Given the description of an element on the screen output the (x, y) to click on. 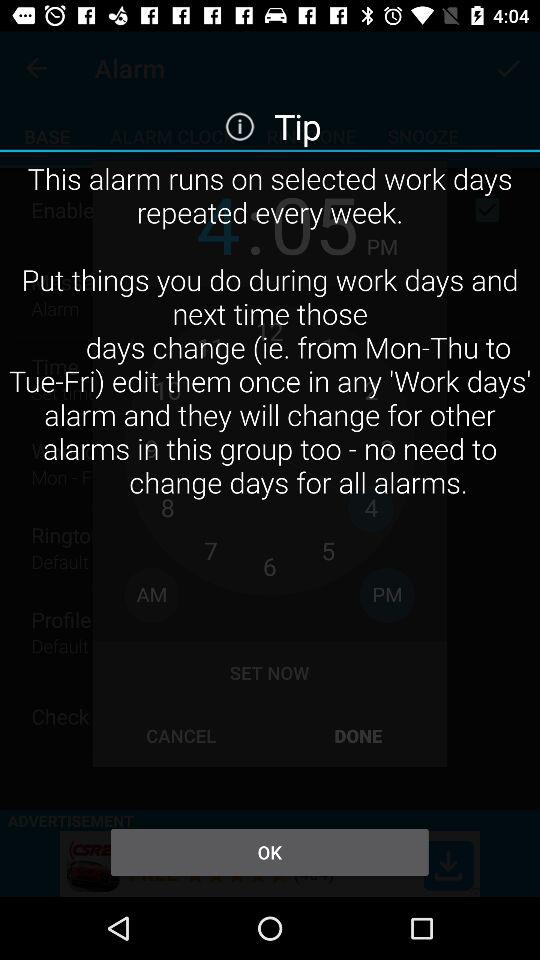
select the ok (269, 851)
